Given the description of an element on the screen output the (x, y) to click on. 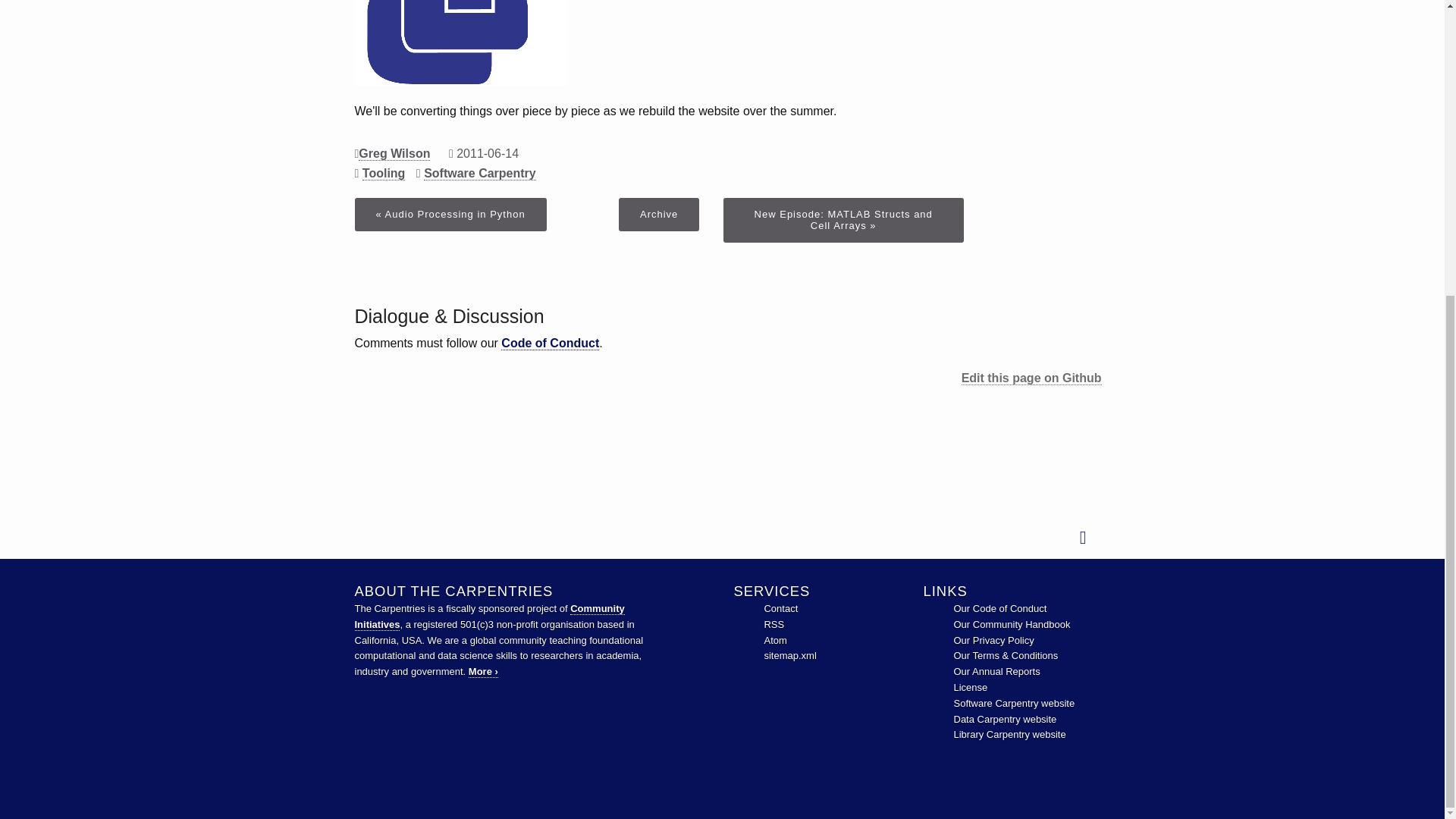
Library Carpentry (1009, 734)
Blog Archive (658, 214)
Terms and Conditions (1005, 655)
Our Reports (997, 671)
Subscribe to RSS Feed (773, 624)
Code of Conduct (999, 608)
License (970, 686)
Subscribe to Atom Feed (774, 640)
Data Carpentry (1005, 718)
Software Carpentry (1014, 703)
